Given the description of an element on the screen output the (x, y) to click on. 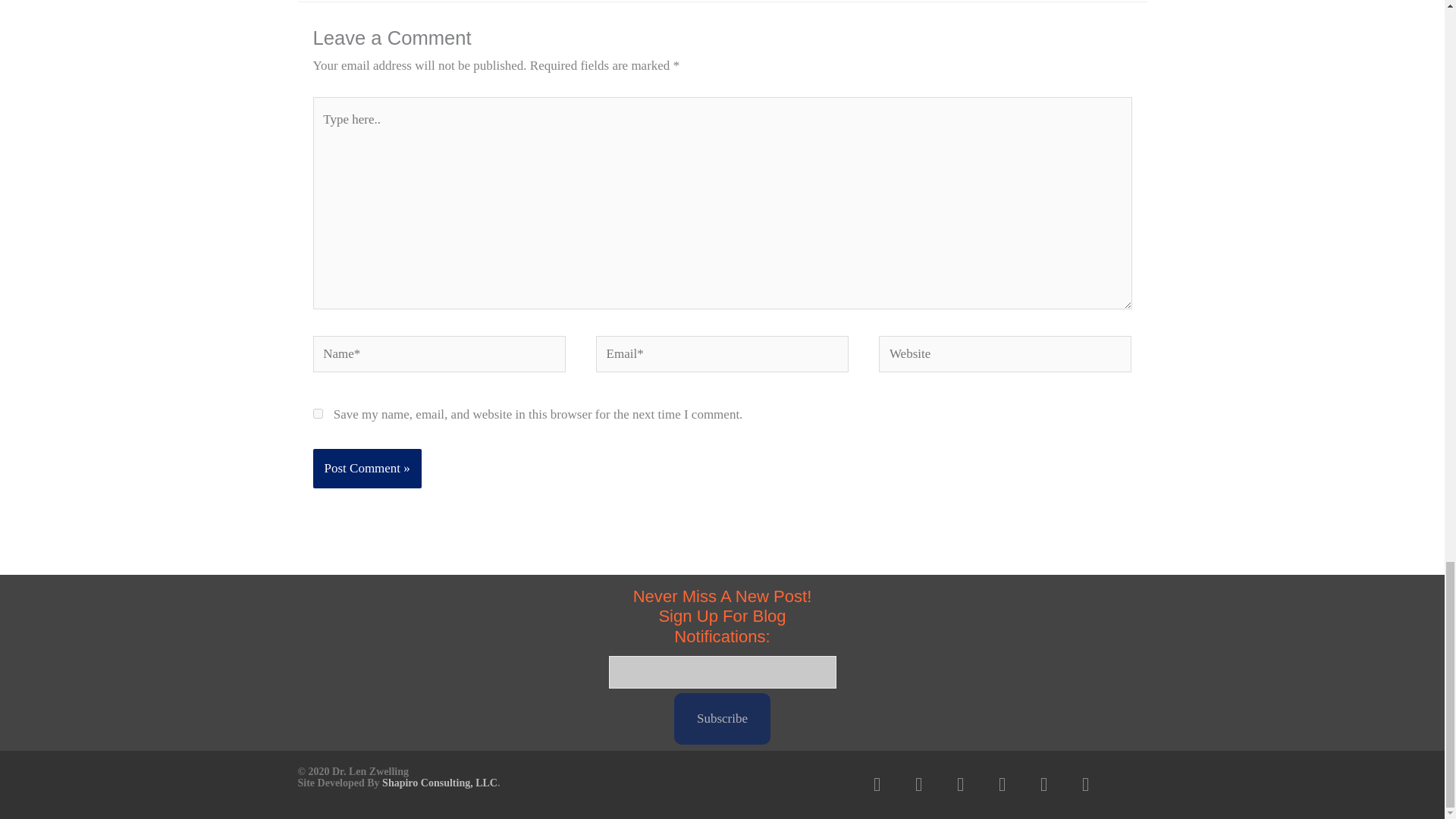
yes (317, 413)
Subscribe (722, 718)
Subscribe (722, 718)
Shapiro Consulting, LLC (439, 782)
